Given the description of an element on the screen output the (x, y) to click on. 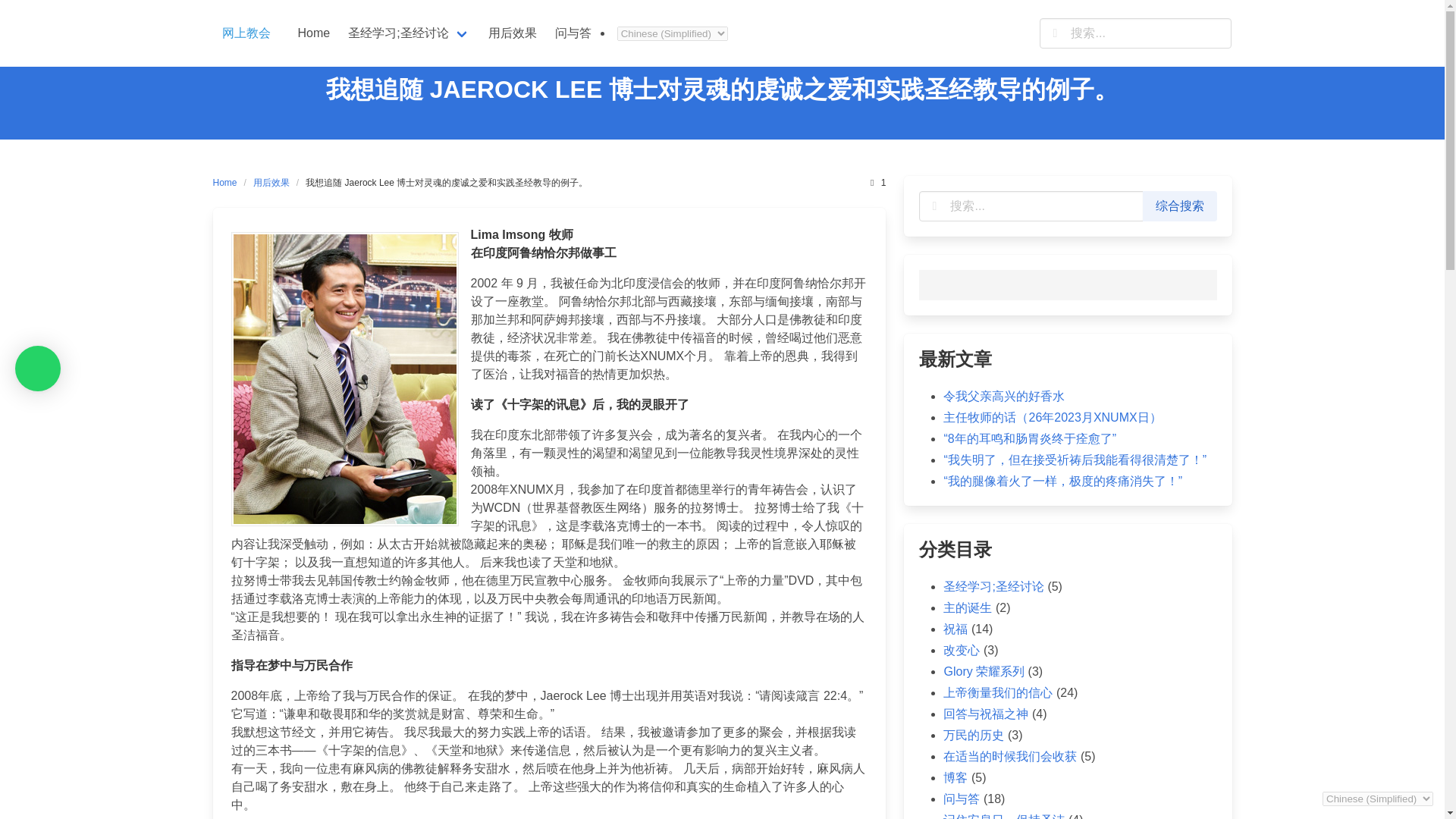
Home (227, 182)
Home (313, 33)
Home (313, 33)
1 (876, 182)
